Given the description of an element on the screen output the (x, y) to click on. 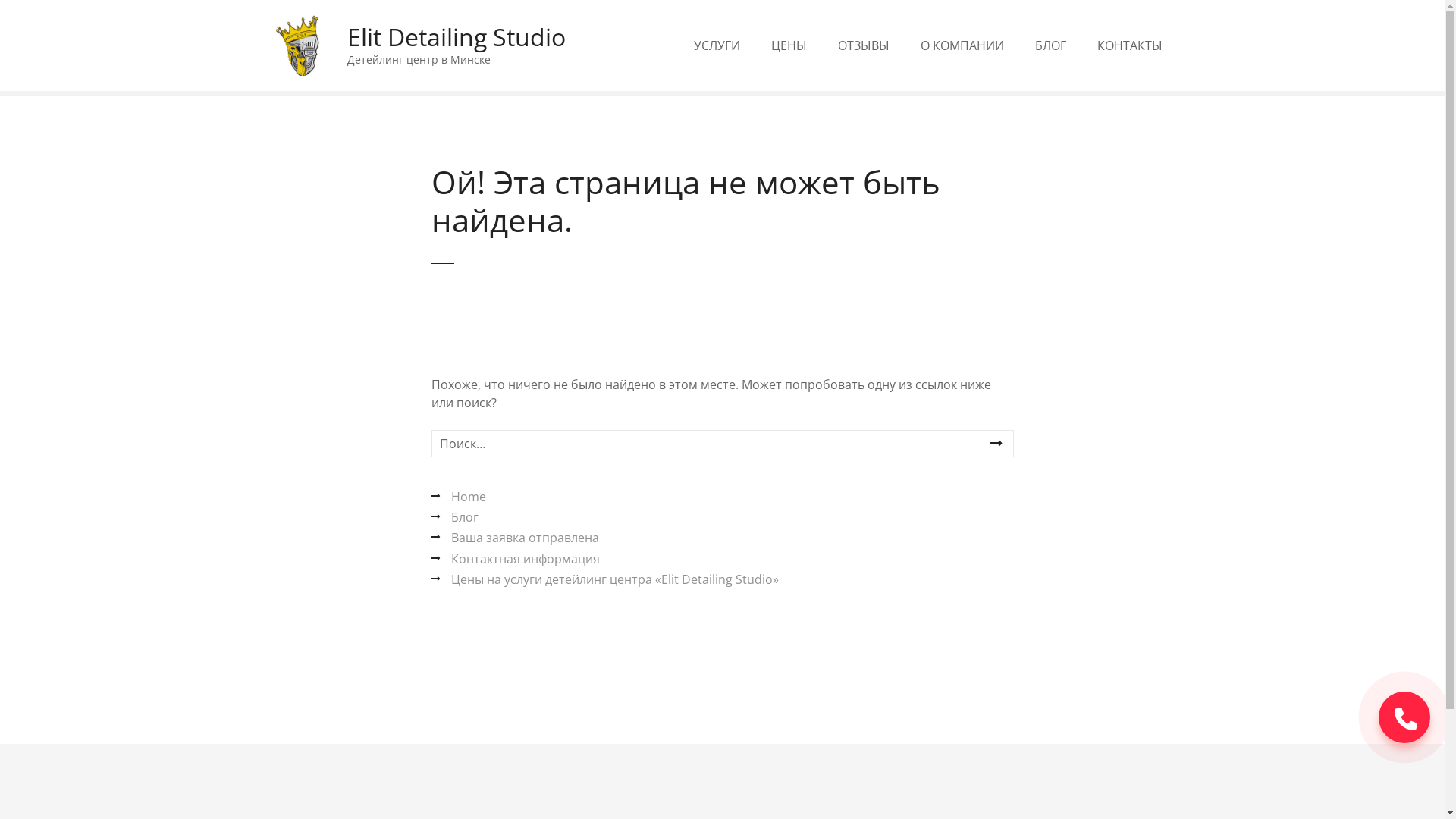
Elit Detailing Studio Element type: text (456, 36)
Home Element type: text (457, 496)
